Given the description of an element on the screen output the (x, y) to click on. 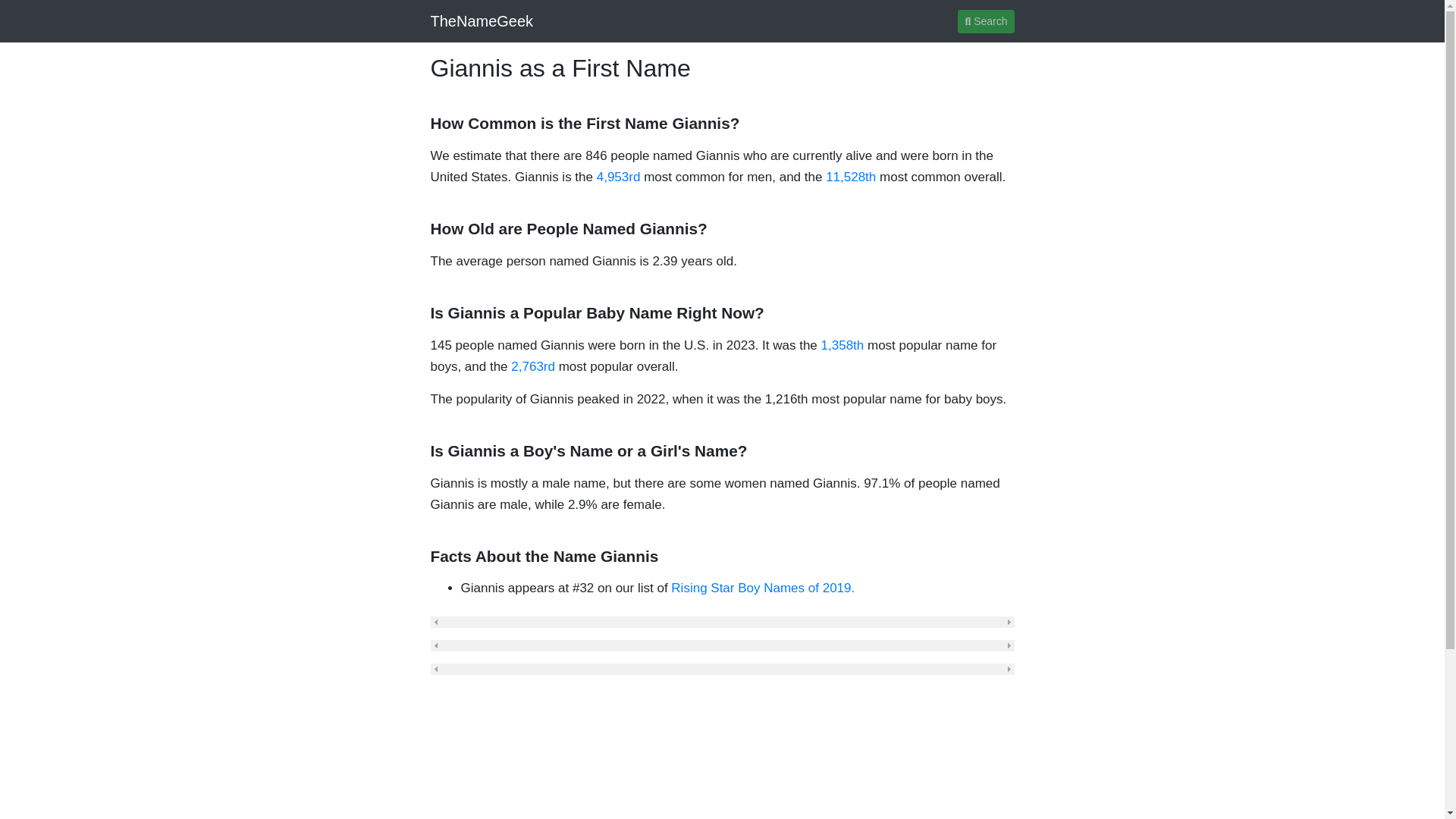
1,358th (842, 345)
Search (985, 20)
11,528th (850, 176)
TheNameGeek (482, 20)
Rising Star Boy Names of 2019. (762, 587)
2,763rd (532, 366)
4,953rd (618, 176)
